Given the description of an element on the screen output the (x, y) to click on. 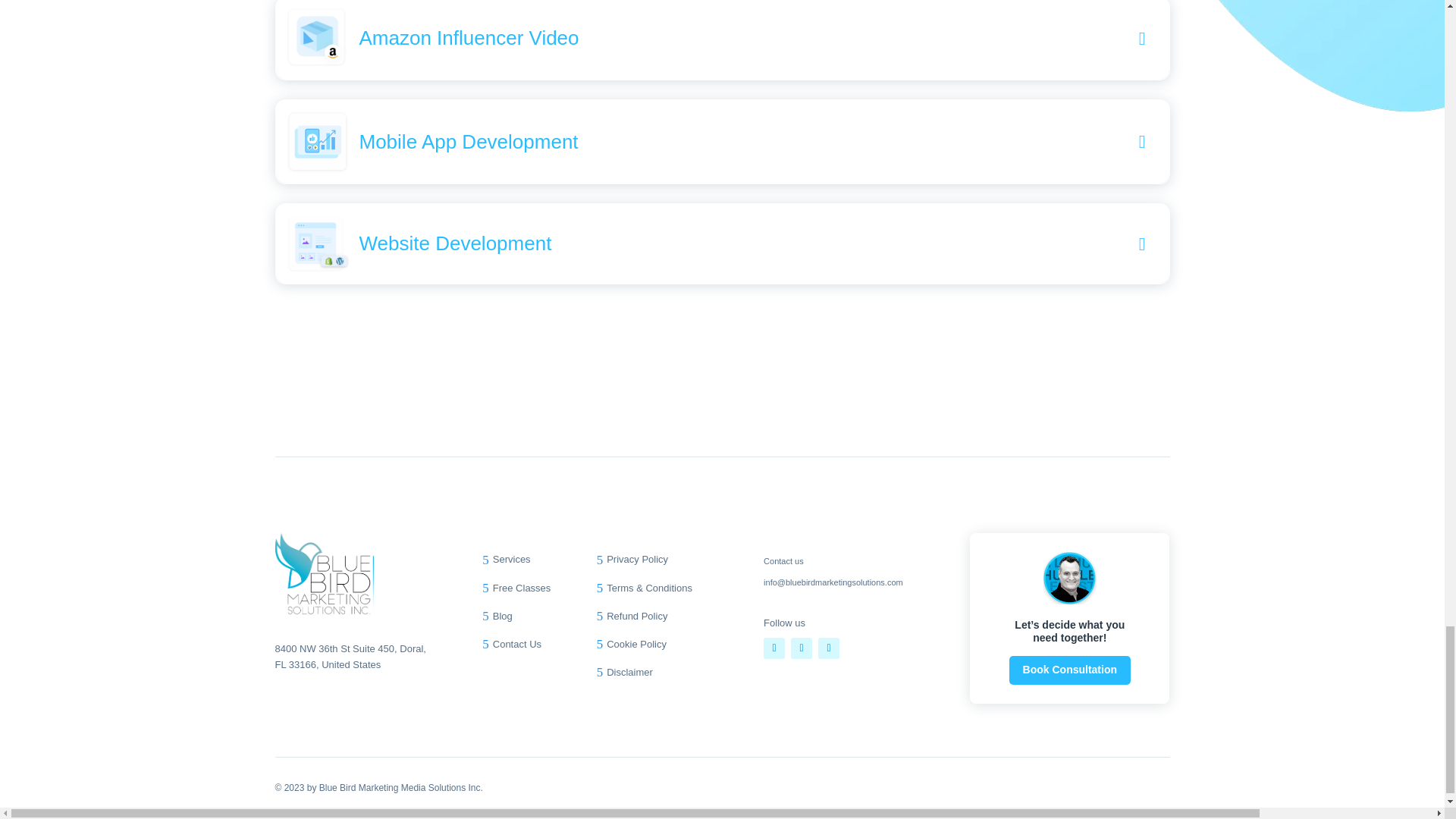
Follow on Youtube (829, 648)
Follow on LinkedIn (801, 648)
Follow on Facebook (773, 648)
BBMS Logo (323, 574)
